Given the description of an element on the screen output the (x, y) to click on. 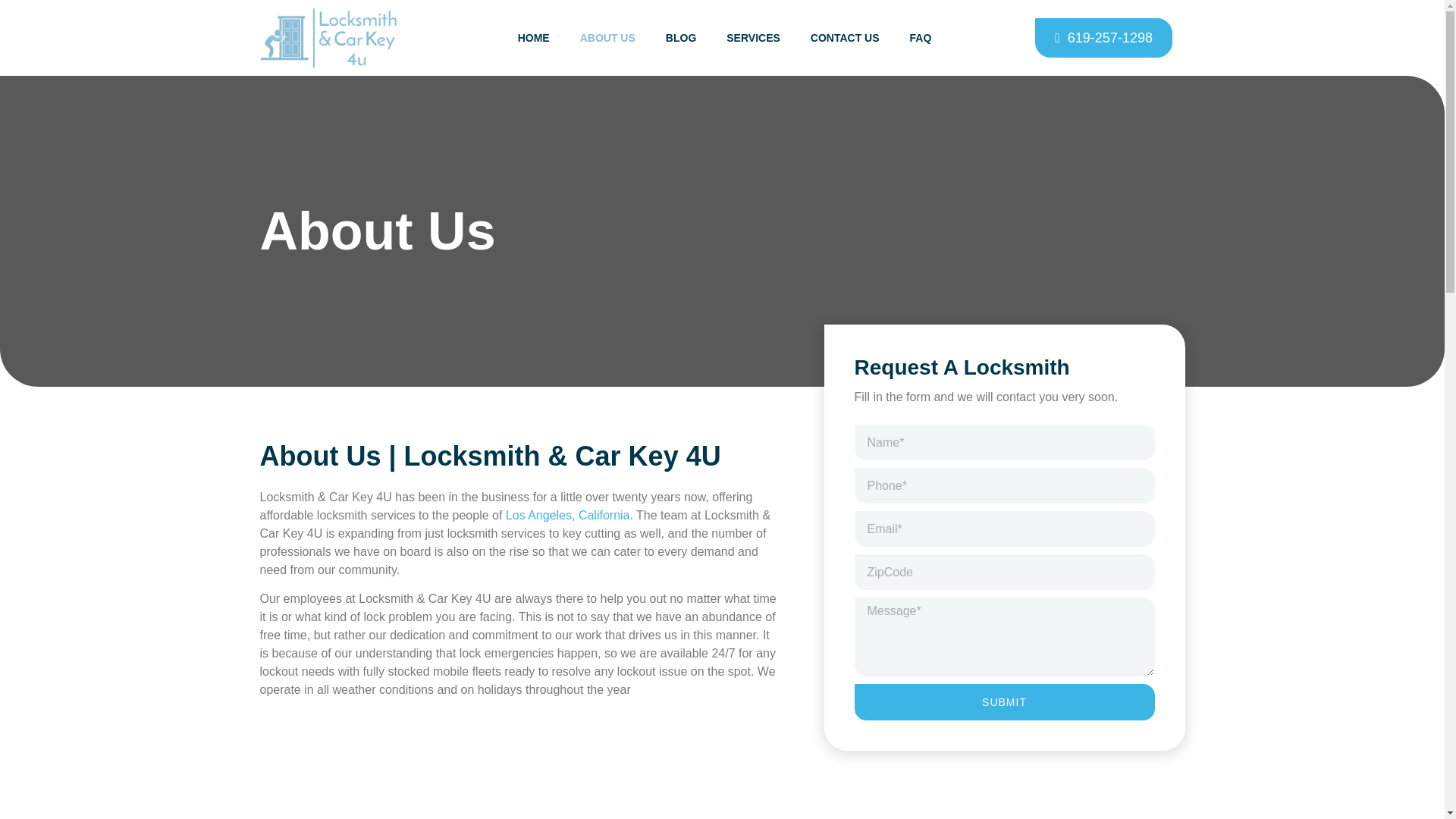
BLOG (680, 37)
ABOUT US (607, 37)
HOME (533, 37)
SERVICES (752, 37)
